Given the description of an element on the screen output the (x, y) to click on. 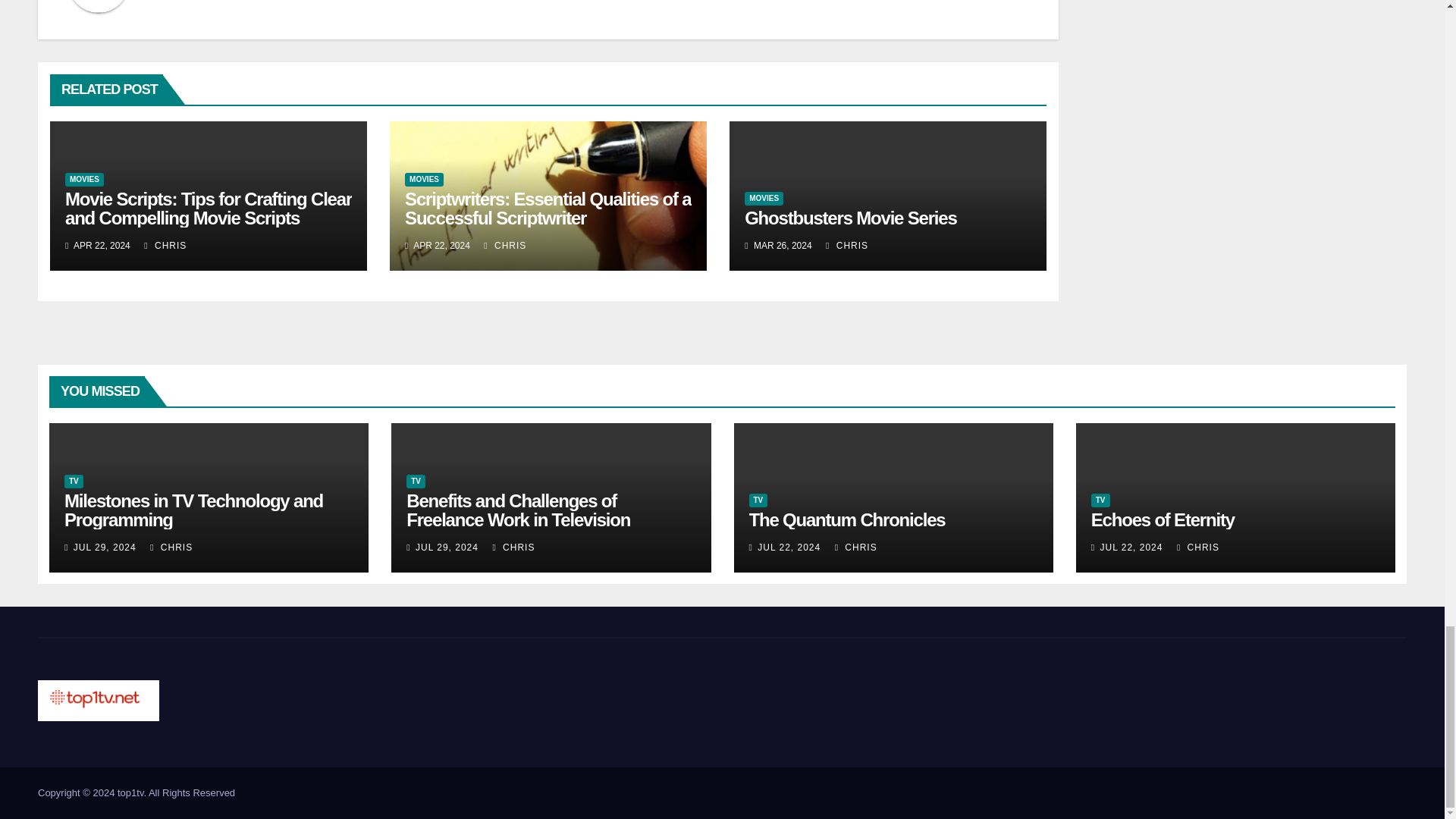
Permalink to: Echoes of Eternity (1162, 519)
Permalink to: Milestones in TV Technology and Programming (193, 509)
MOVIES (84, 179)
CHRIS (165, 245)
MOVIES (424, 179)
Permalink to: Ghostbusters Movie Series (850, 218)
